Given the description of an element on the screen output the (x, y) to click on. 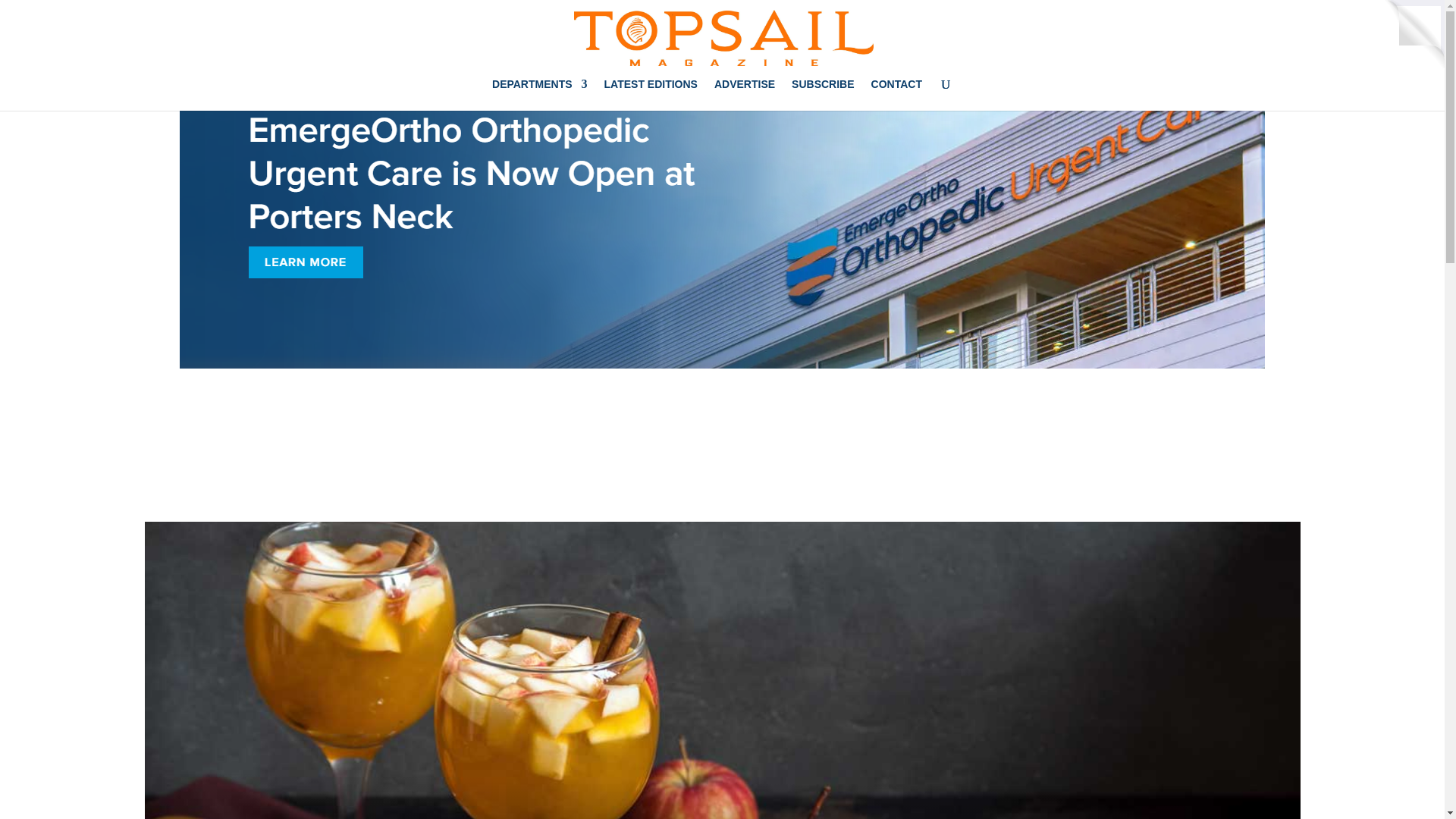
CONTACT (895, 94)
SUBSCRIBE (822, 94)
DEPARTMENTS (540, 94)
LATEST EDITIONS (650, 94)
ADVERTISE (744, 94)
